Given the description of an element on the screen output the (x, y) to click on. 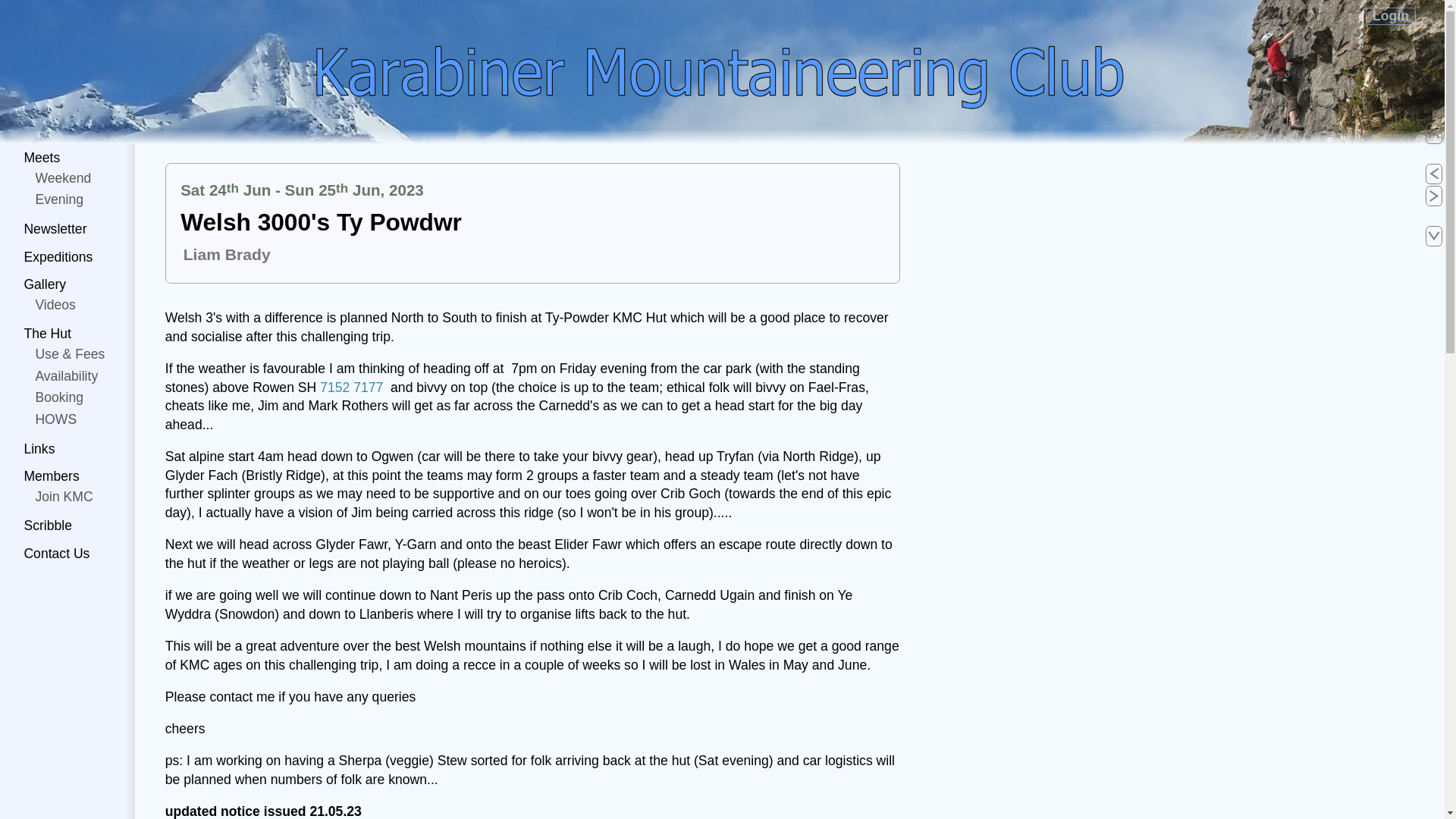
Scribble (47, 525)
Evening (58, 199)
This Years Meets Calendar (42, 157)
Login (1391, 14)
Weekend (62, 177)
Members (51, 476)
KMC Members Only (1391, 14)
All Weekend Meets (62, 177)
Availability (65, 376)
Home Page (715, 72)
